Given the description of an element on the screen output the (x, y) to click on. 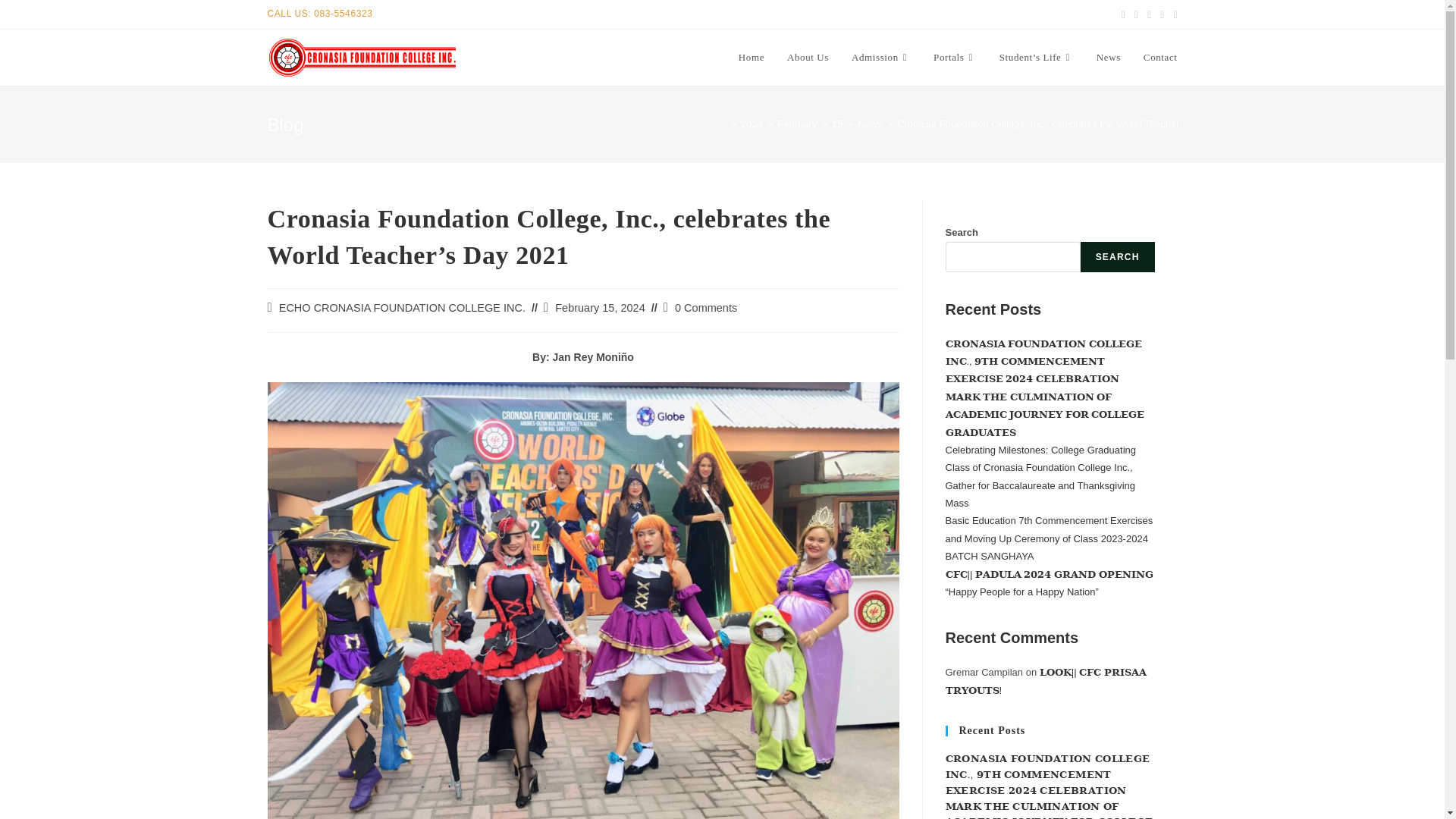
Admission (880, 57)
Contact (1160, 57)
Portals (954, 57)
Posts by ECHO CRONASIA FOUNDATION COLLEGE INC. (402, 307)
About Us (808, 57)
